Given the description of an element on the screen output the (x, y) to click on. 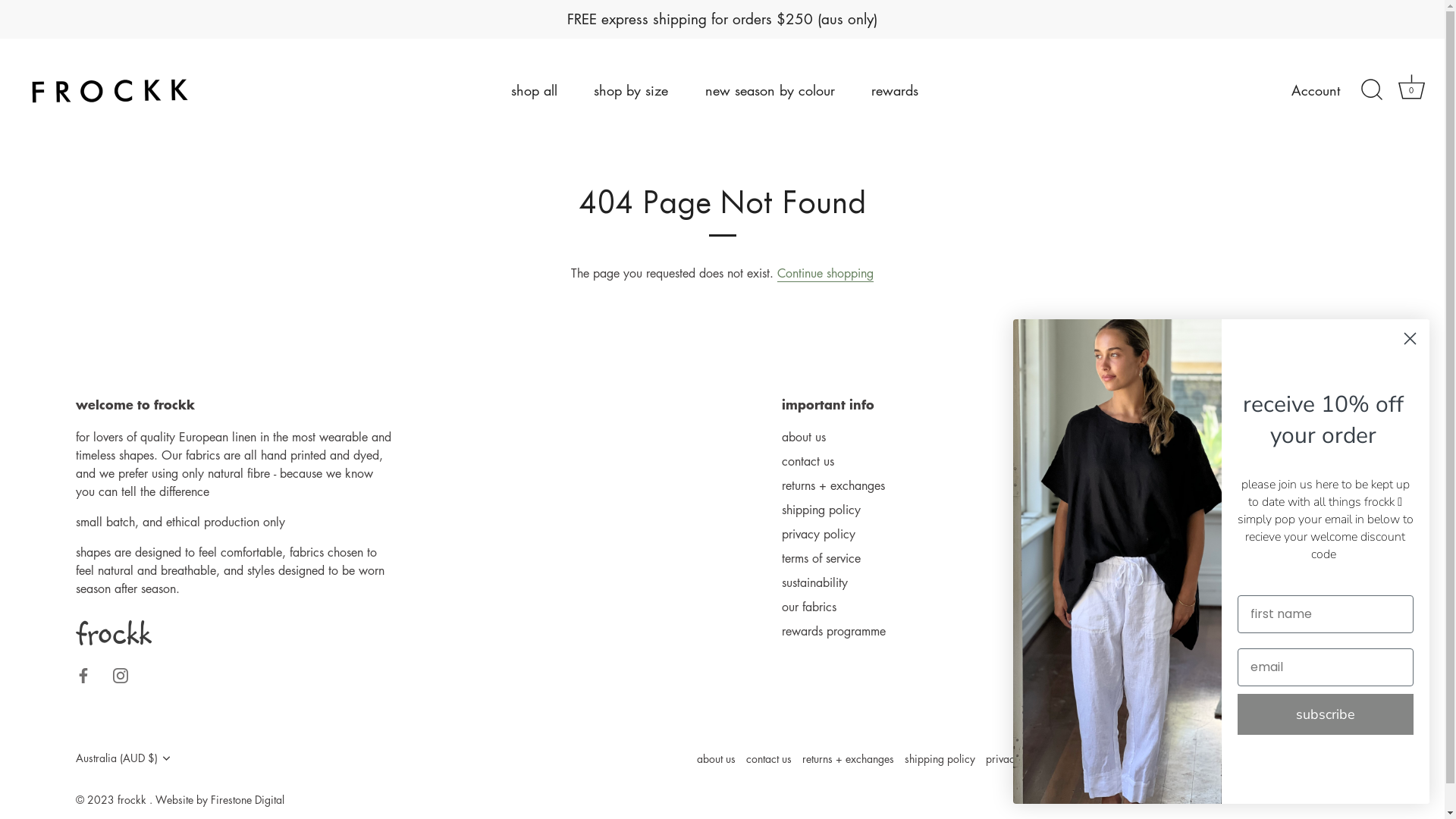
terms of service Element type: text (1096, 757)
Submit Element type: text (43, 20)
Cart
0 Element type: text (1410, 89)
rewards Element type: text (894, 90)
sustainability Element type: text (814, 582)
subscribe Element type: text (1325, 713)
terms of service Element type: text (820, 557)
contact us Element type: text (768, 757)
privacy policy Element type: text (818, 533)
about us Element type: text (715, 757)
Instagram Element type: text (120, 673)
FREE express shipping for orders $250 (aus only) Element type: text (722, 19)
Account Element type: text (1328, 90)
Australia (AUD $) Element type: text (133, 757)
bali frockk stores Element type: text (1317, 460)
australian stockists Element type: text (1320, 484)
our fabrics Element type: text (1238, 757)
shipping policy Element type: text (939, 757)
frockk Element type: text (133, 798)
shop all Element type: text (534, 90)
rewards programme Element type: text (833, 630)
new season by colour Element type: text (769, 90)
contact us Element type: text (807, 460)
our fabrics Element type: text (808, 606)
shipping policy Element type: text (820, 509)
Firestone Digital Element type: text (247, 798)
perth frockk store Element type: text (1317, 436)
Continue shopping Element type: text (825, 273)
privacy policy Element type: text (1018, 757)
shop by size Element type: text (630, 90)
about us Element type: text (803, 436)
returns + exchanges Element type: text (832, 484)
sustainability Element type: text (1172, 757)
returns + exchanges Element type: text (848, 757)
rewards programme Element type: text (1321, 757)
